Given the description of an element on the screen output the (x, y) to click on. 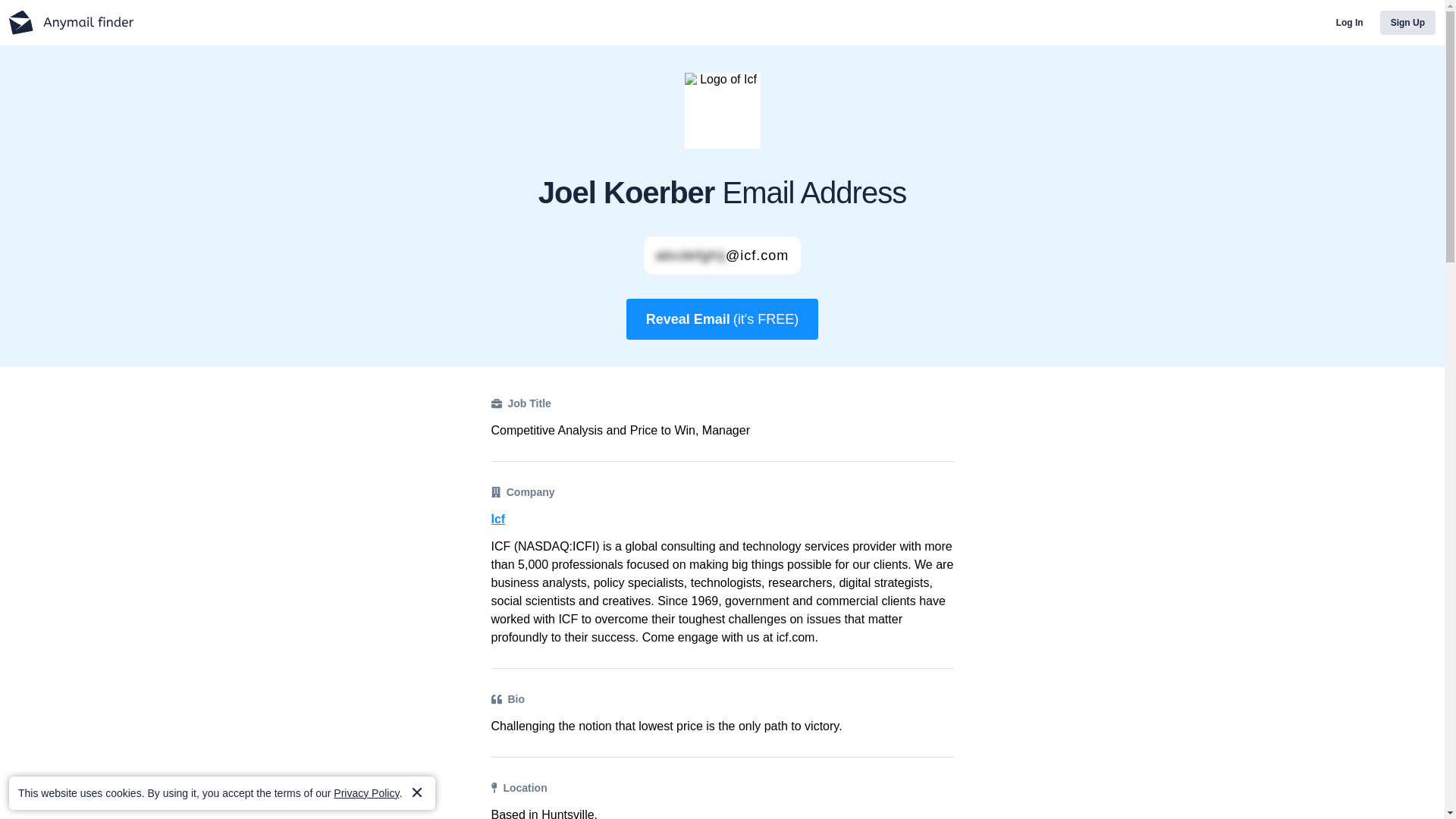
Icf (722, 519)
Sign Up (1407, 22)
Log In (1349, 22)
